Given the description of an element on the screen output the (x, y) to click on. 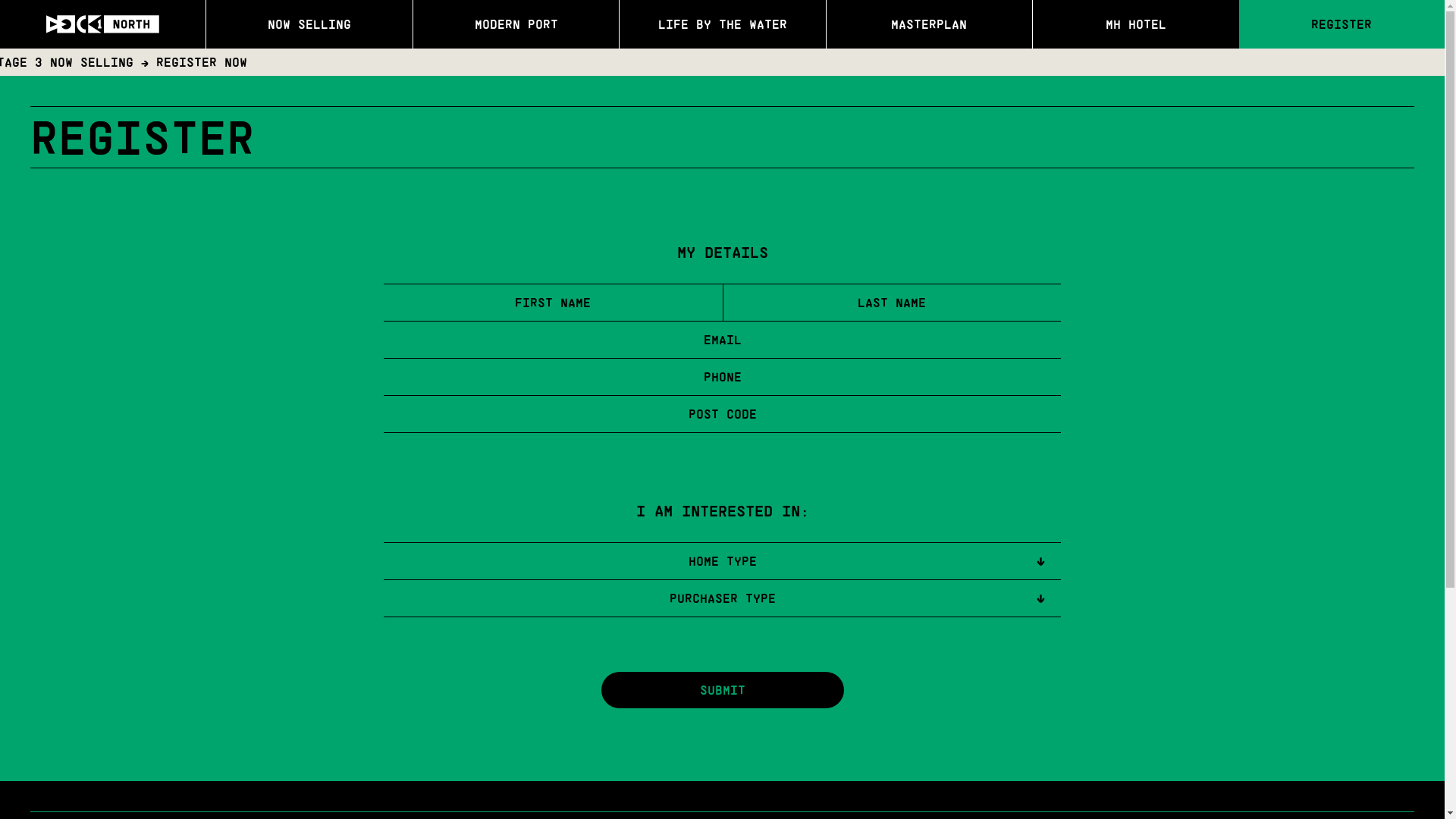
MODERN PORT Element type: text (515, 24)
NOW SELLING Element type: text (308, 24)
REGISTER Element type: text (1341, 24)
SUBMIT Element type: text (721, 689)
MASTERPLAN Element type: text (929, 24)
MH HOTEL Element type: text (1135, 24)
LIFE BY THE WATER Element type: text (722, 24)
